Given the description of an element on the screen output the (x, y) to click on. 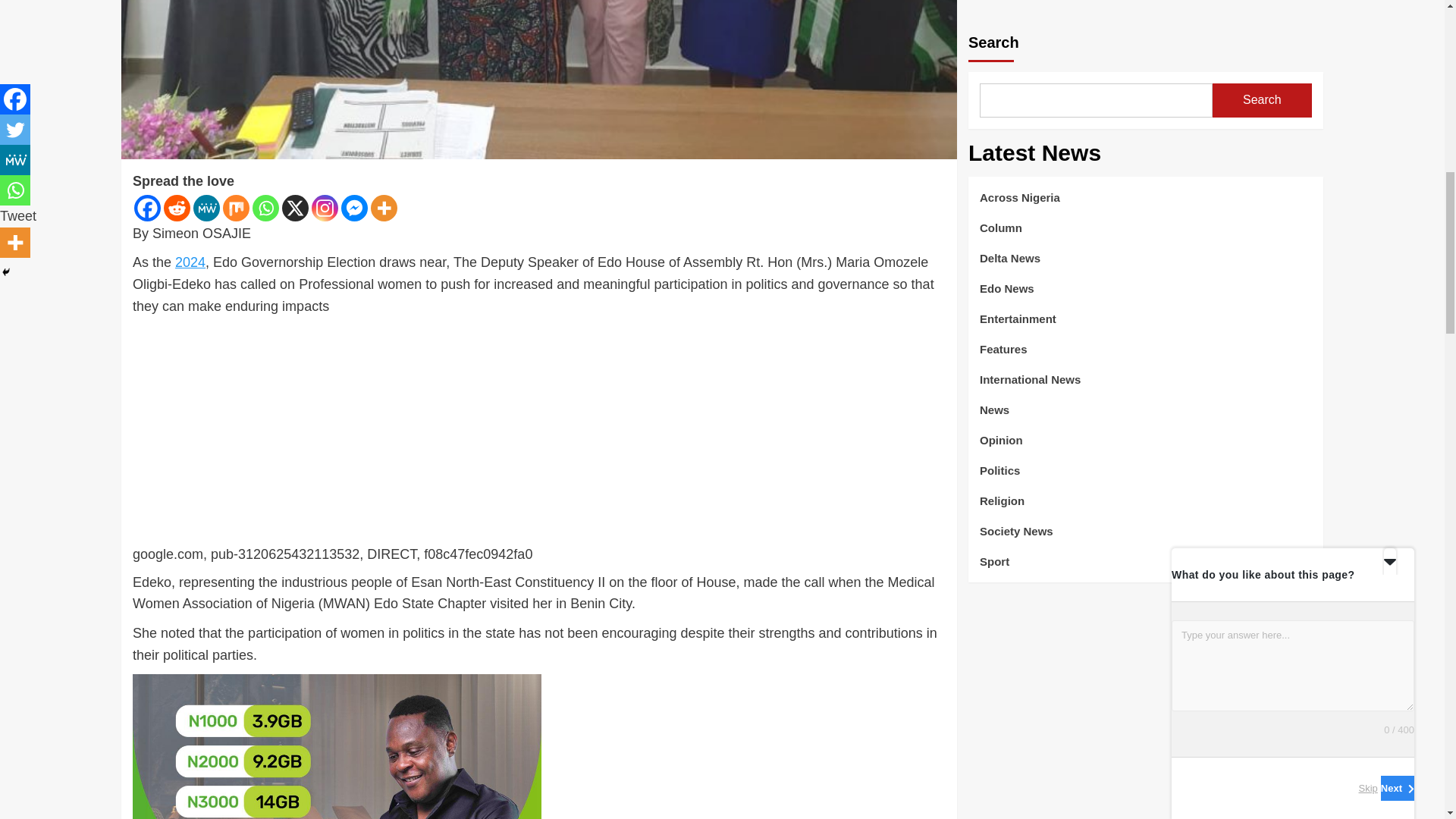
Reddit (176, 207)
Instagram (324, 207)
2024 (189, 262)
Facebook (146, 207)
Whatsapp (265, 207)
More (384, 207)
Mix (235, 207)
X (295, 207)
MeWe (206, 207)
